Given the description of an element on the screen output the (x, y) to click on. 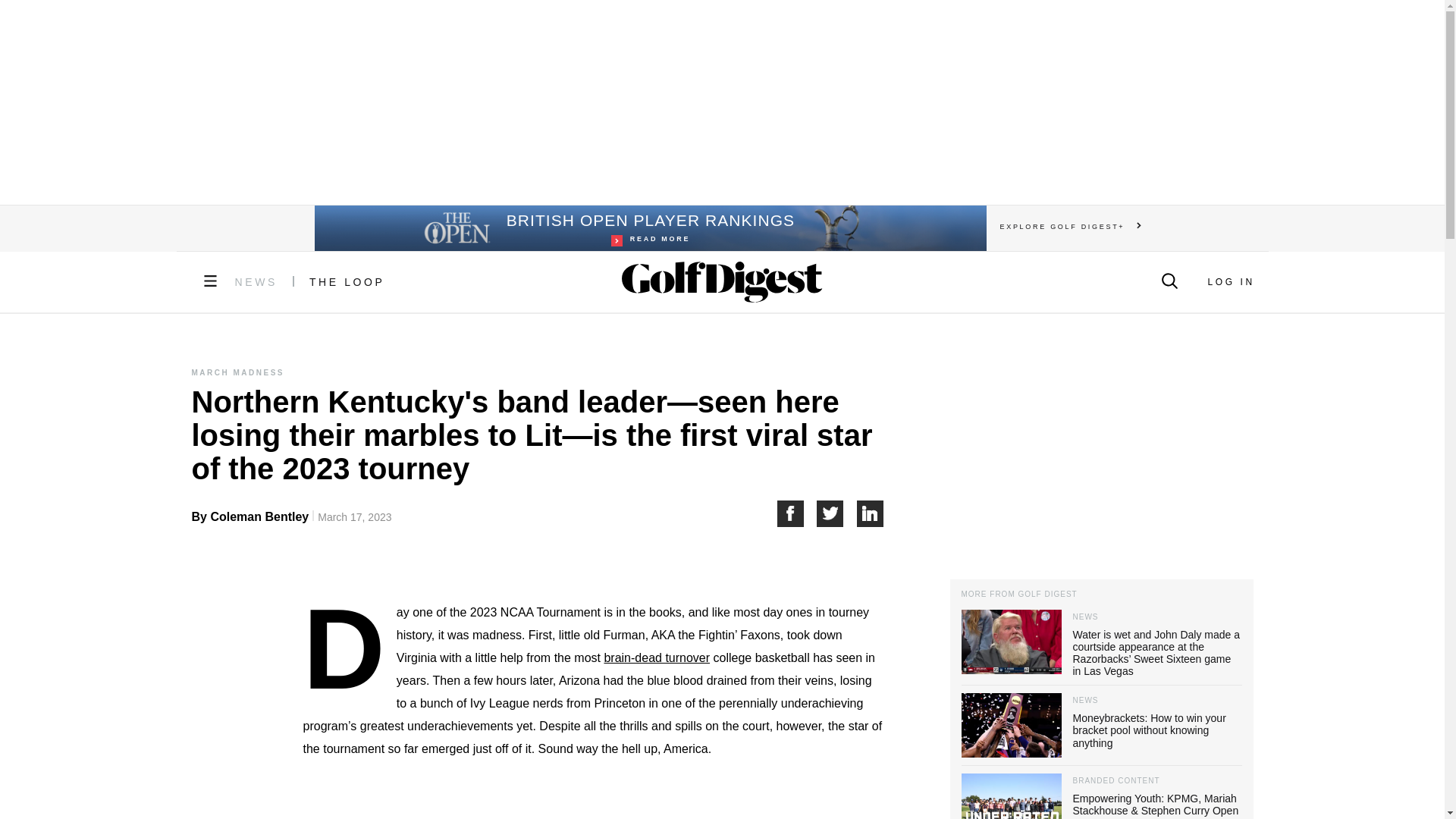
LOG IN (1230, 281)
THE LOOP (346, 282)
Share on LinkedIn (870, 513)
Share on Facebook (649, 227)
Share on Twitter (796, 513)
NEWS (836, 513)
3rd party ad content (256, 282)
